Given the description of an element on the screen output the (x, y) to click on. 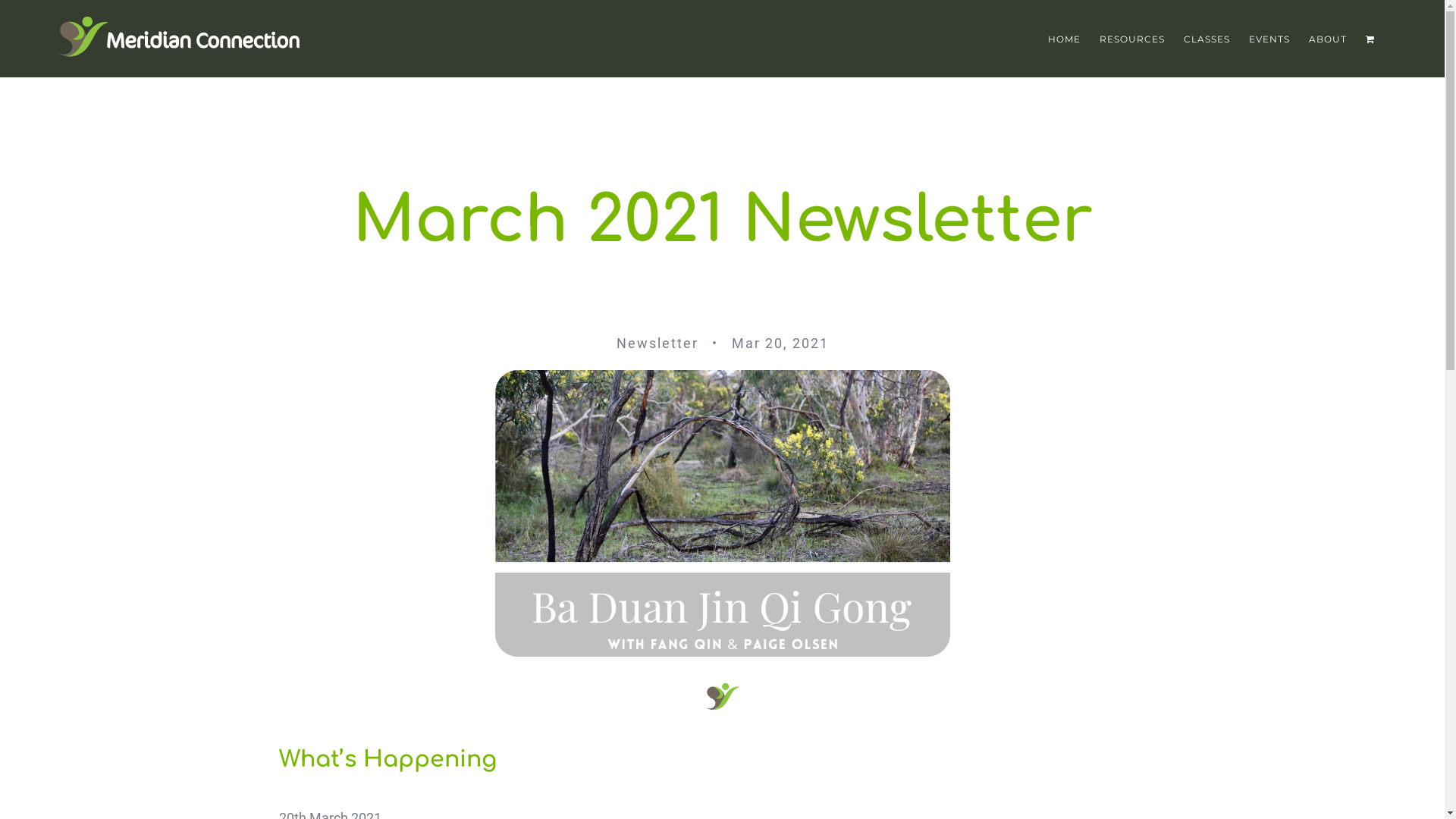
MC-icon-0.1x Element type: hover (721, 696)
HOME Element type: text (1064, 37)
RESOURCES Element type: text (1131, 37)
EVENTS Element type: text (1268, 37)
ABOUT Element type: text (1327, 37)
CLASSES Element type: text (1206, 37)
y2021m05d01_ba_duan_jin_qi_gong_header Element type: hover (721, 513)
